Given the description of an element on the screen output the (x, y) to click on. 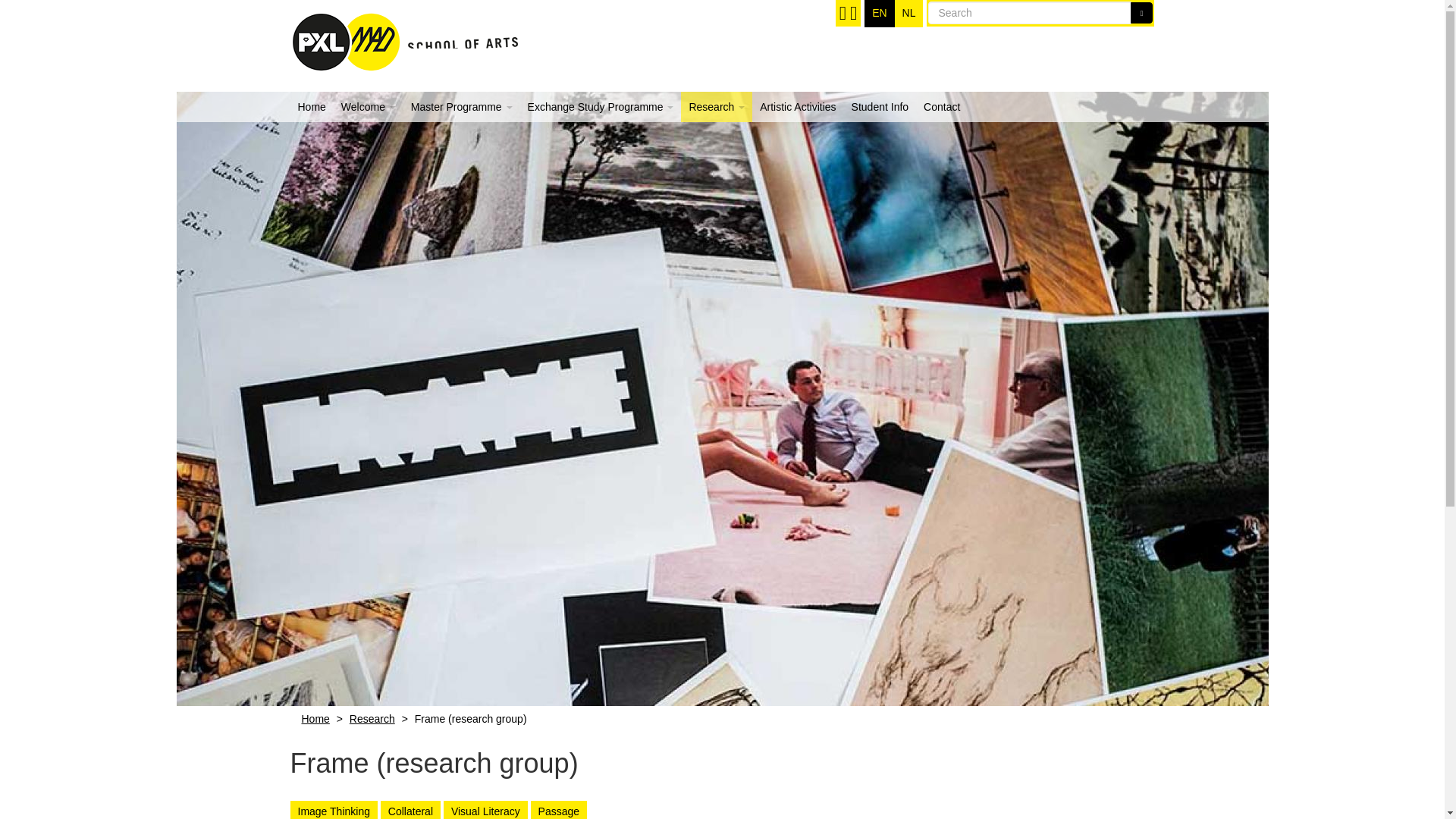
Research (716, 106)
Welcome (368, 106)
Exchange Study Programme (600, 106)
Contact (941, 106)
Research (371, 718)
Home (402, 36)
Student Info (880, 106)
Home (315, 718)
EN (879, 13)
Home (311, 106)
Artistic Activities (797, 106)
Master Programme (461, 106)
NL (908, 13)
